Given the description of an element on the screen output the (x, y) to click on. 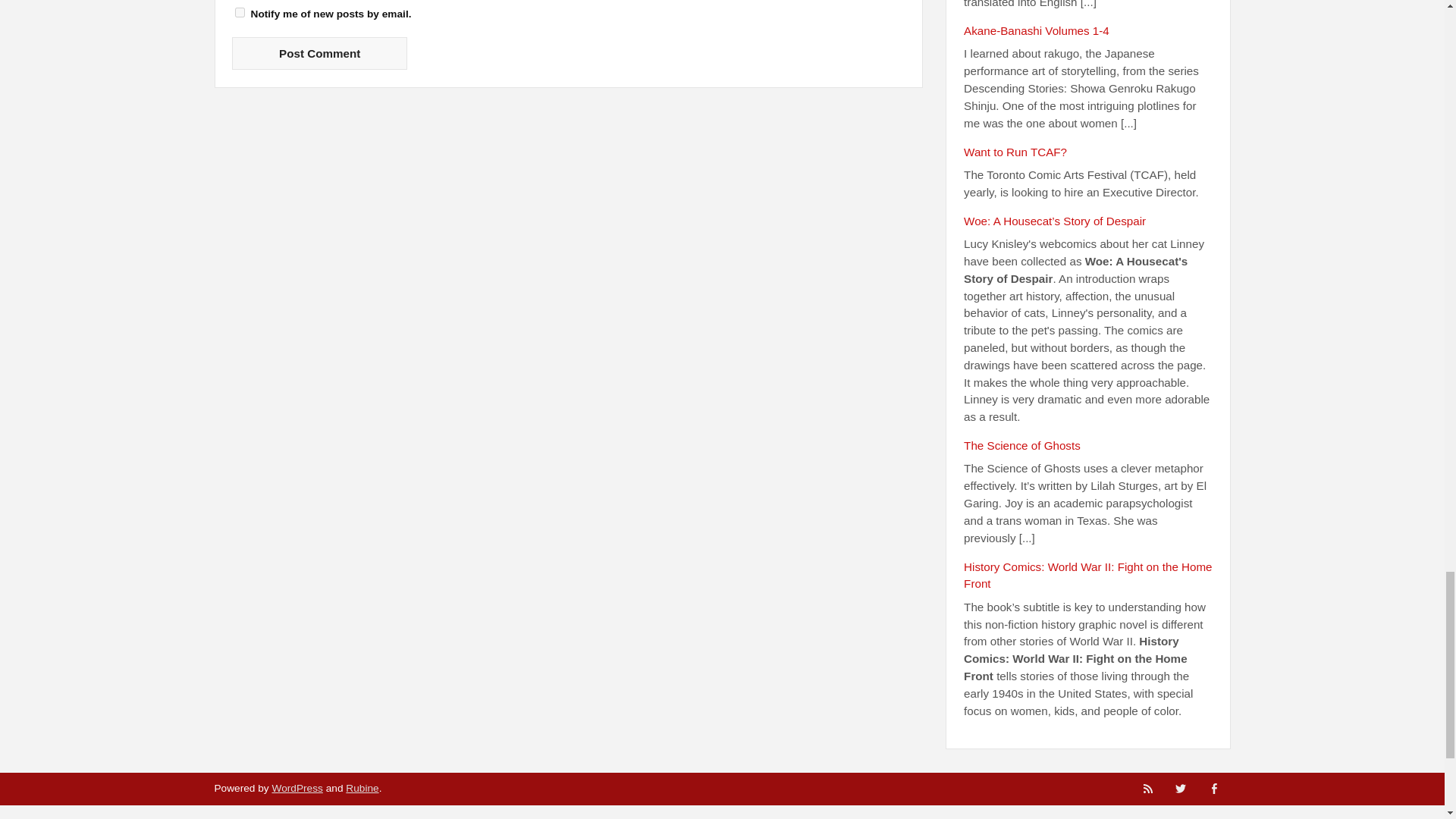
Post Comment (319, 52)
subscribe (239, 12)
